Given the description of an element on the screen output the (x, y) to click on. 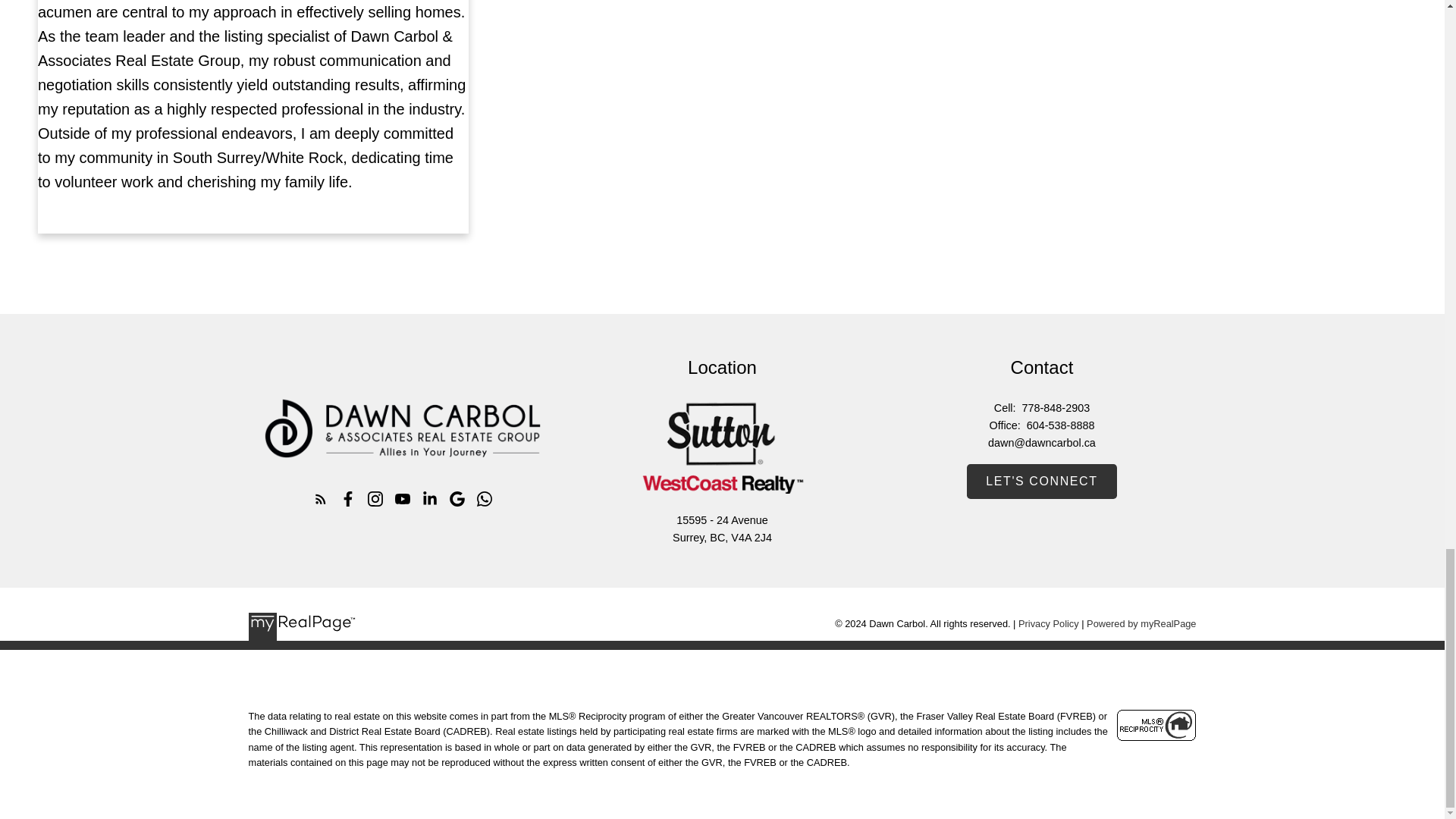
Office:  604-538-8888 (1040, 425)
Privacy Policy (1047, 623)
LET'S CONNECT (1041, 481)
Cell:  778-848-2903 (1040, 407)
